Given the description of an element on the screen output the (x, y) to click on. 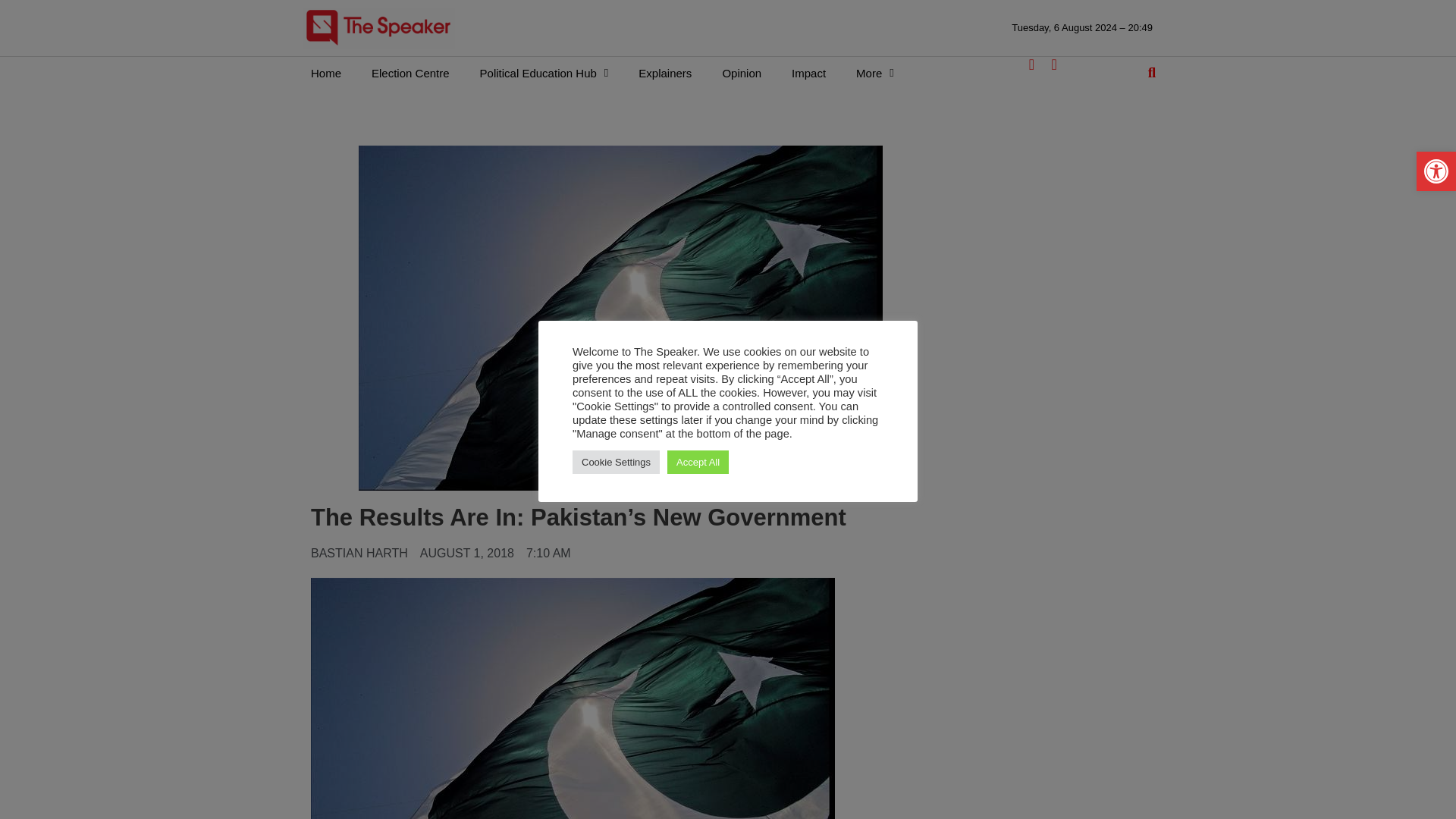
Opinion (741, 73)
Election Centre (410, 73)
Explainers (664, 73)
Accessibility Tools (1435, 170)
Impact (808, 73)
Political Education Hub (544, 73)
Home (325, 73)
The Speaker (378, 27)
More (874, 73)
